Given the description of an element on the screen output the (x, y) to click on. 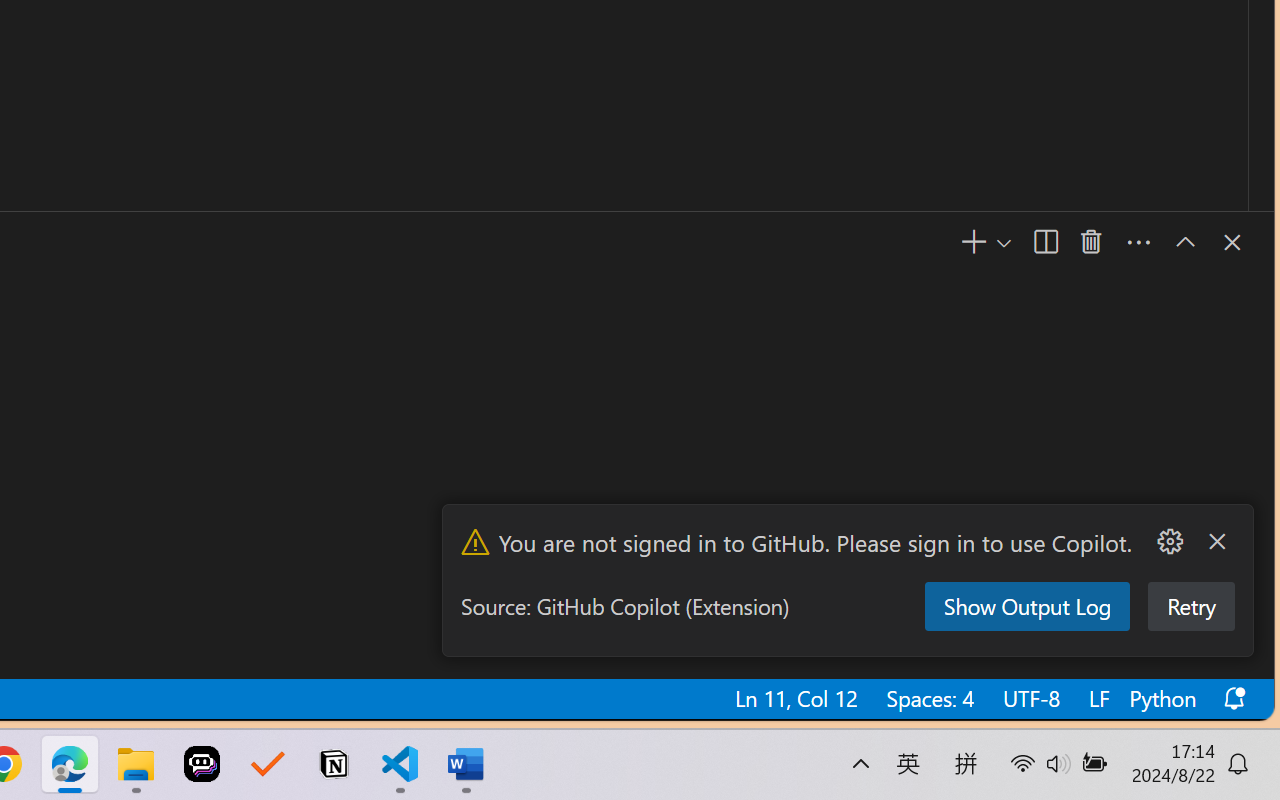
Clear Notification (Delete) (1215, 542)
Maximize Panel Size (1183, 242)
Ln 11, Col 12 (795, 698)
Split Terminal (Ctrl+Shift+5) (1043, 243)
Views and More Actions... (1137, 243)
Kill Terminal (1091, 243)
Class: actions-container (1211, 242)
Python (1161, 698)
Spaces: 4 (929, 698)
Retry (1189, 606)
LF (1097, 698)
Notification Actions (1191, 542)
Launch Profile... (1002, 243)
UTF-8 (1029, 698)
